Given the description of an element on the screen output the (x, y) to click on. 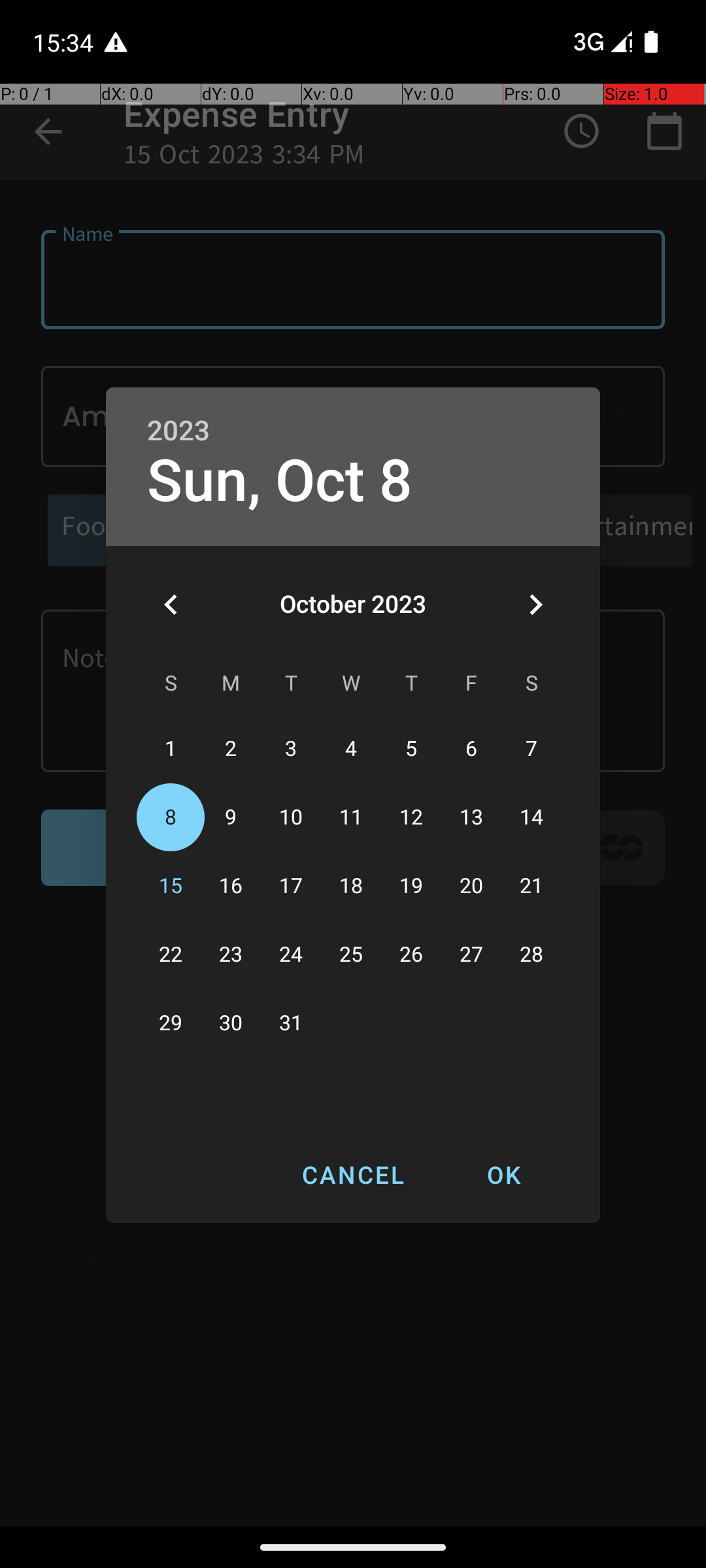
2023 Element type: android.widget.TextView (178, 430)
Sun, Oct 8 Element type: android.widget.TextView (279, 480)
Previous month Element type: android.widget.ImageButton (170, 604)
Next month Element type: android.widget.ImageButton (535, 604)
24 Element type: android.view.View (290, 954)
26 Element type: android.view.View (411, 954)
27 Element type: android.view.View (471, 954)
28 Element type: android.view.View (531, 954)
29 Element type: android.view.View (170, 1023)
31 Element type: android.view.View (290, 1023)
